Given the description of an element on the screen output the (x, y) to click on. 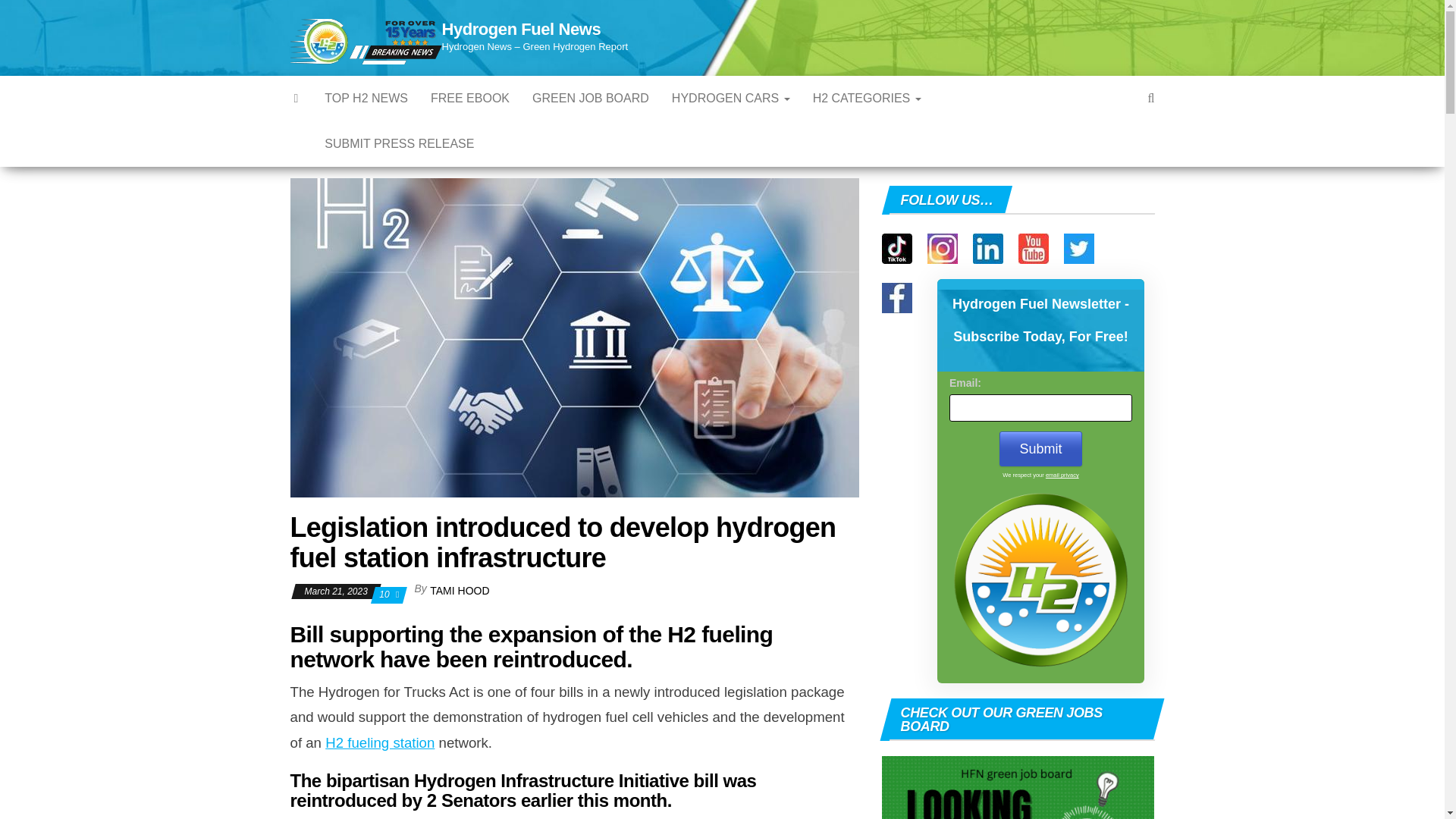
Hydrogen Fuel News (520, 28)
Submit (1039, 448)
Hydrogen Fuel News (296, 98)
Hydrogen Cars (731, 98)
FREE EBOOK (470, 98)
Green Job Board (591, 98)
H2 CATEGORIES (867, 98)
Top H2 News (366, 98)
TOP H2 NEWS (366, 98)
GREEN JOB BOARD (591, 98)
HYDROGEN CARS (731, 98)
Free ebook (470, 98)
